Given the description of an element on the screen output the (x, y) to click on. 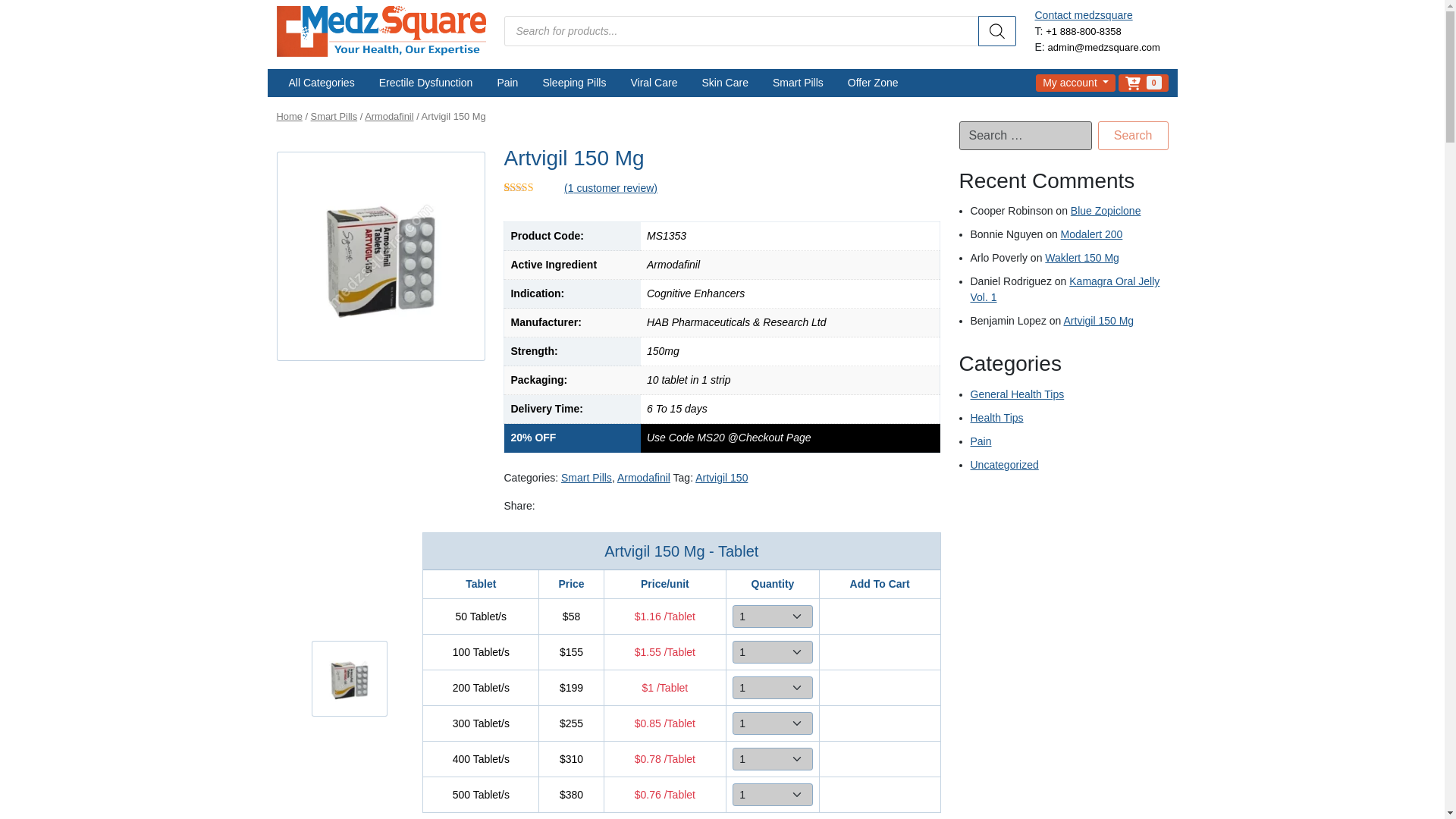
Artvigil 150Mg (349, 683)
Contact medzsquare (1082, 13)
Smart Pills (797, 80)
Offer Zone (873, 80)
0 (1142, 79)
Erectile Dysfunction (425, 80)
Sleeping Pills (573, 80)
My account (1075, 79)
Pain (506, 80)
Skin Care (724, 80)
